Given the description of an element on the screen output the (x, y) to click on. 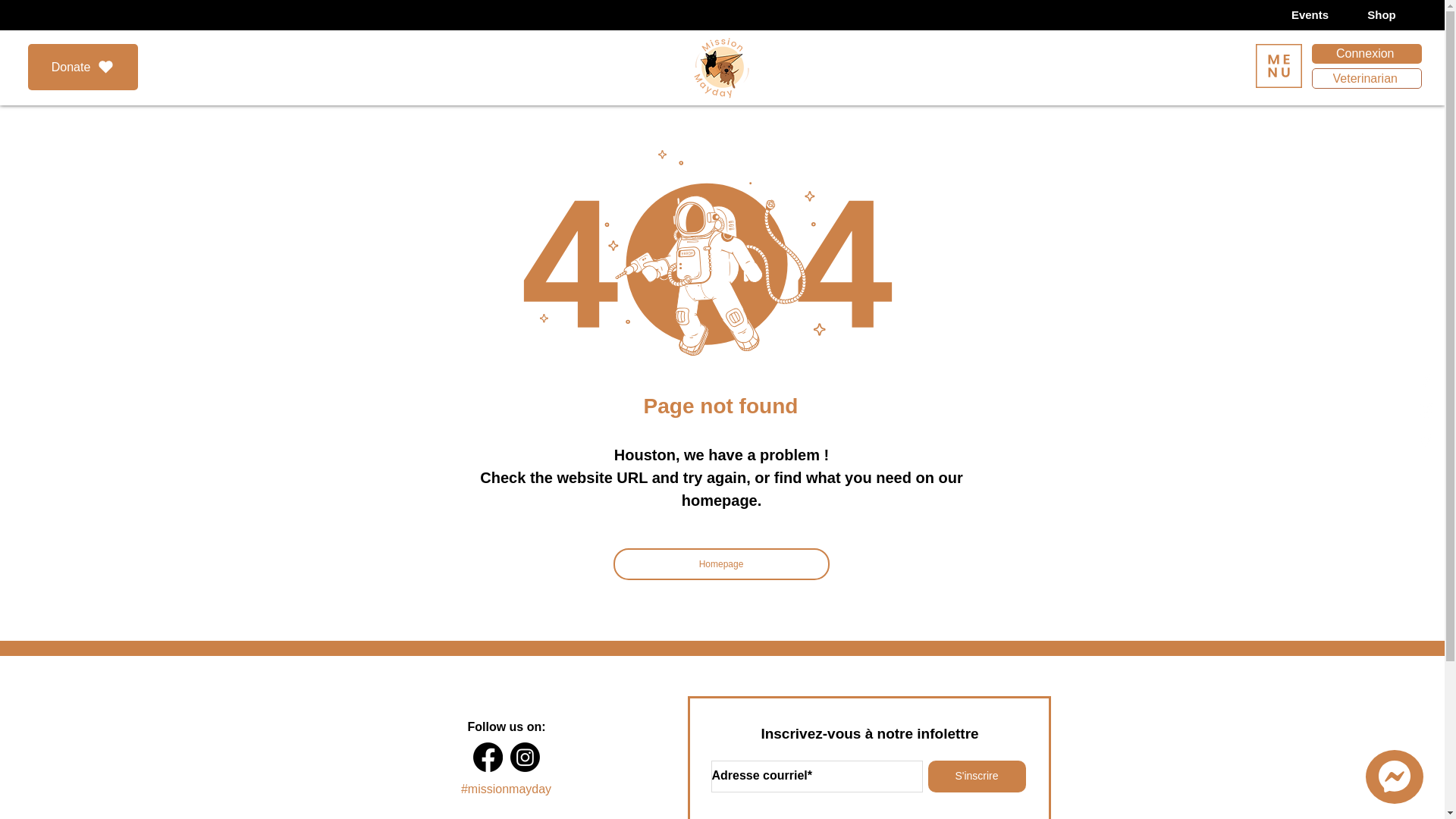
Events (1309, 15)
Shop (1381, 15)
Connexion (1366, 53)
Donate (82, 67)
Homepage (720, 563)
S'inscrire (977, 776)
Veterinarian (1366, 77)
